Given the description of an element on the screen output the (x, y) to click on. 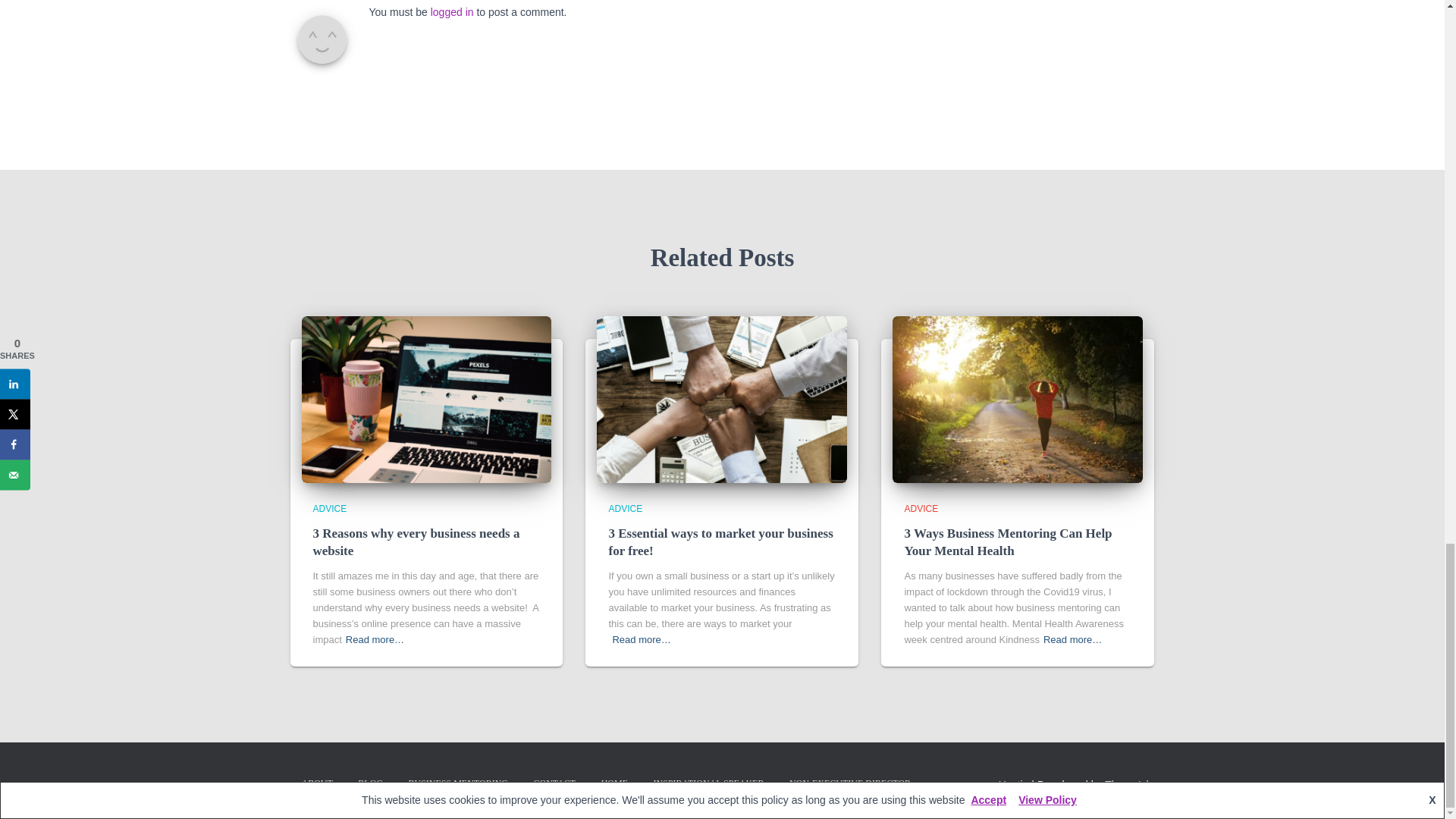
3 Essential ways to market your business for free! (721, 398)
3 Reasons why every business needs a website (426, 398)
View all posts in Advice (625, 508)
3 Reasons why every business needs a website (416, 542)
3 Essential ways to market your business for free! (720, 542)
View all posts in Advice (329, 508)
ADVICE (329, 508)
3 Reasons why every business needs a website (416, 542)
logged in (452, 11)
ADVICE (625, 508)
3 Essential ways to market your business for free! (720, 542)
